Given the description of an element on the screen output the (x, y) to click on. 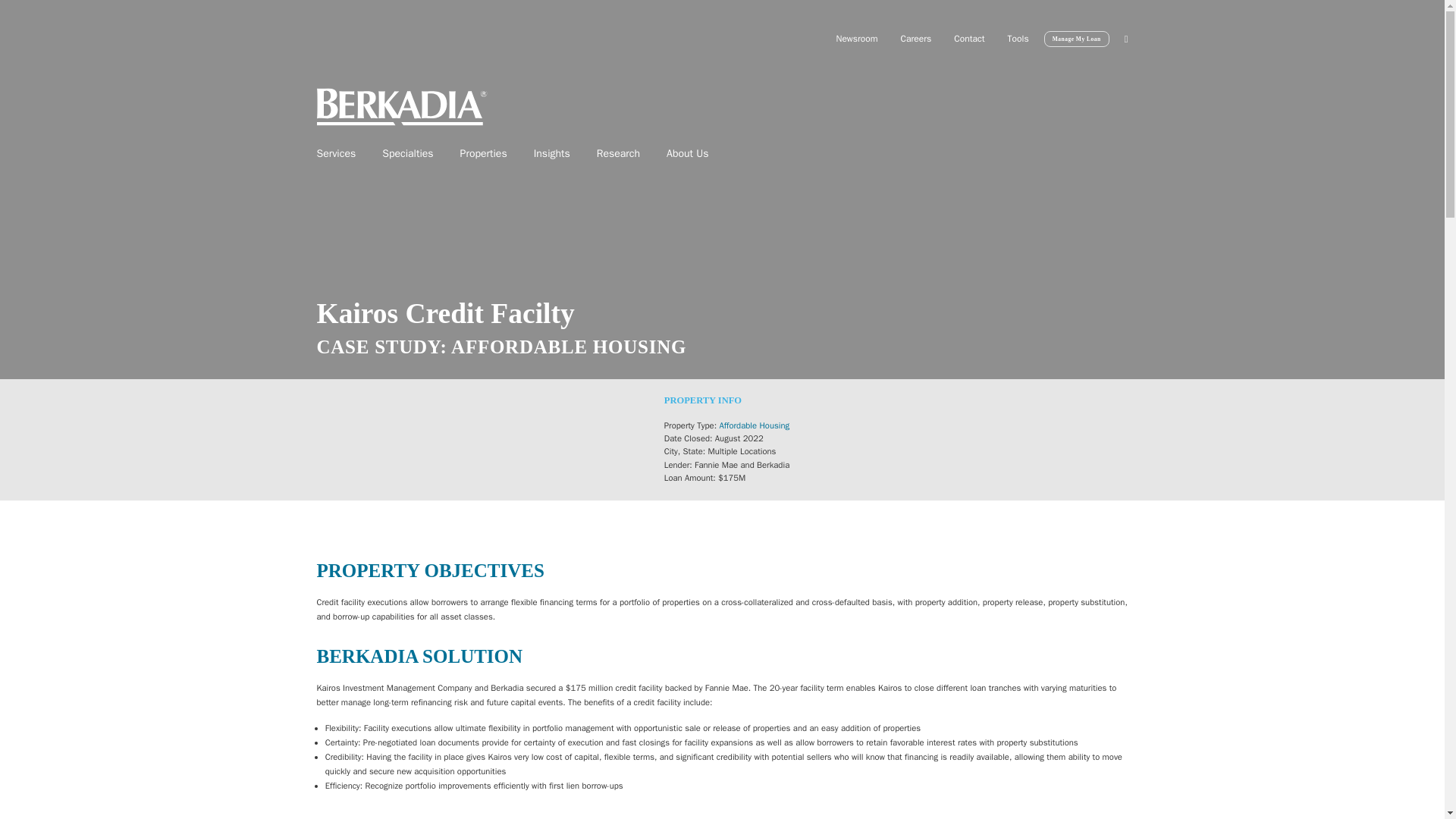
Careers (916, 38)
Contact (968, 38)
Manage My Loan (1076, 38)
Tools (1018, 38)
Newsroom (856, 38)
